Given the description of an element on the screen output the (x, y) to click on. 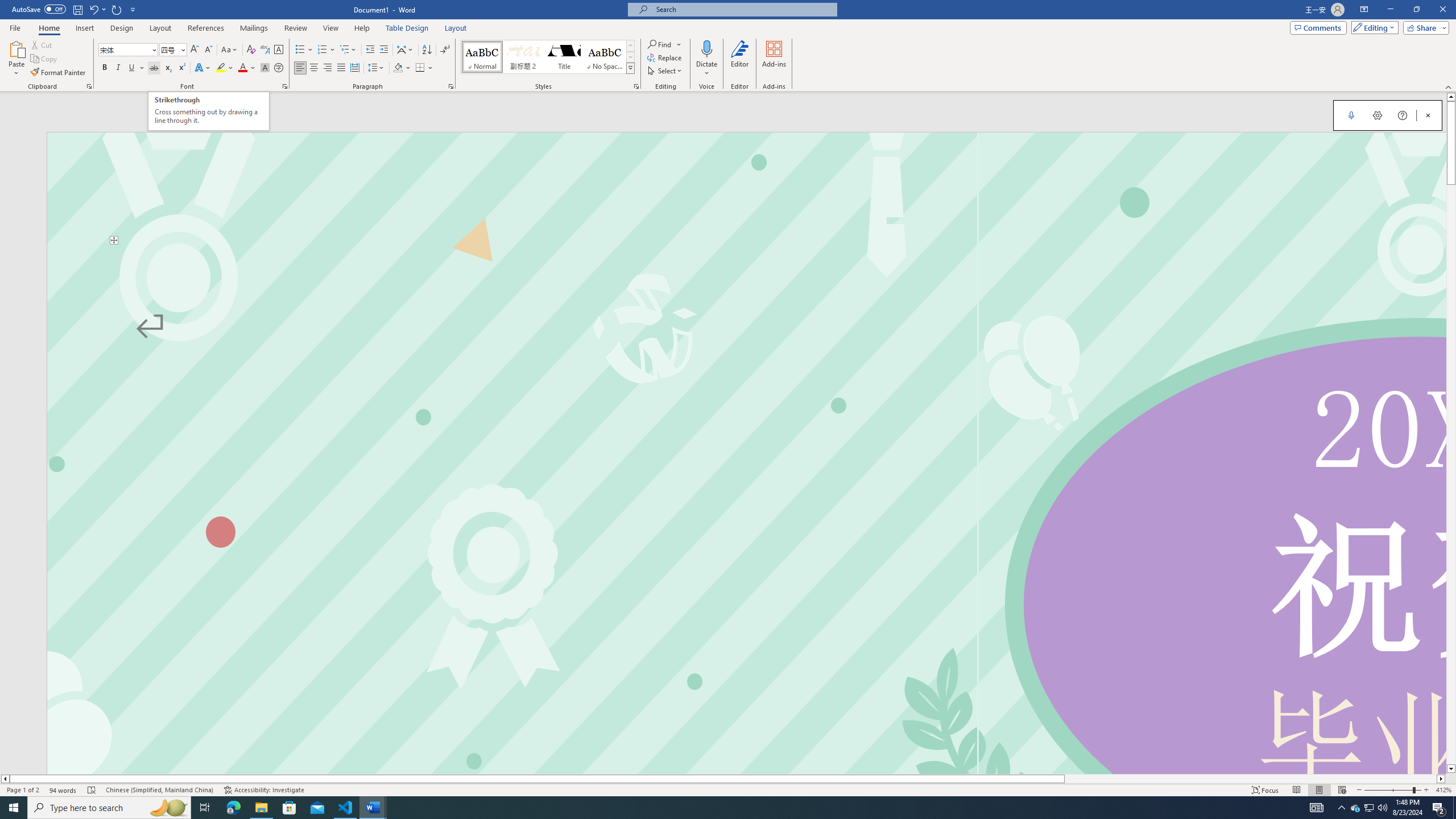
Start Dictation (1350, 115)
